Given the description of an element on the screen output the (x, y) to click on. 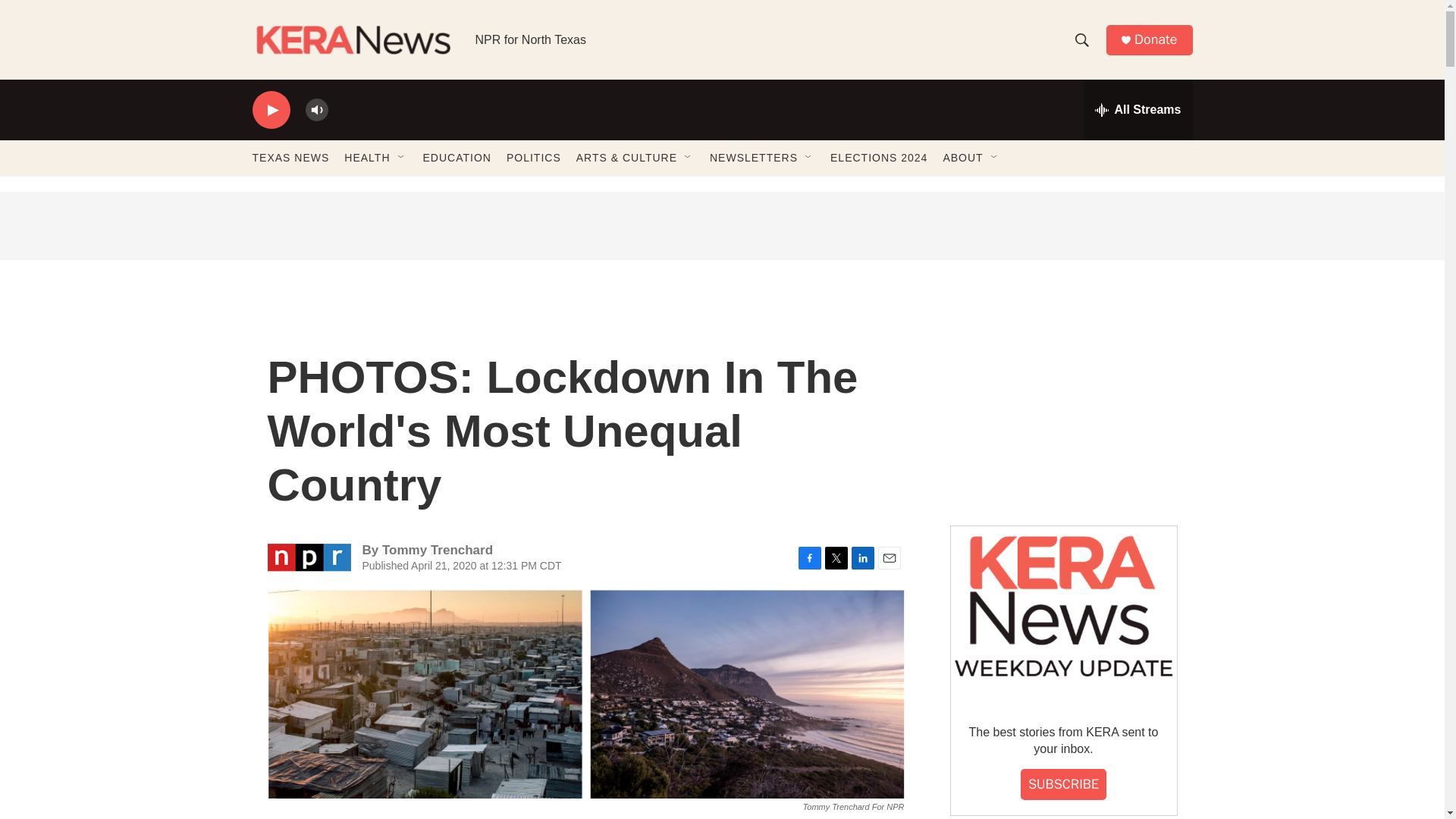
Show Search (1081, 39)
3rd party ad content (1062, 400)
3rd party ad content (721, 225)
